Given the description of an element on the screen output the (x, y) to click on. 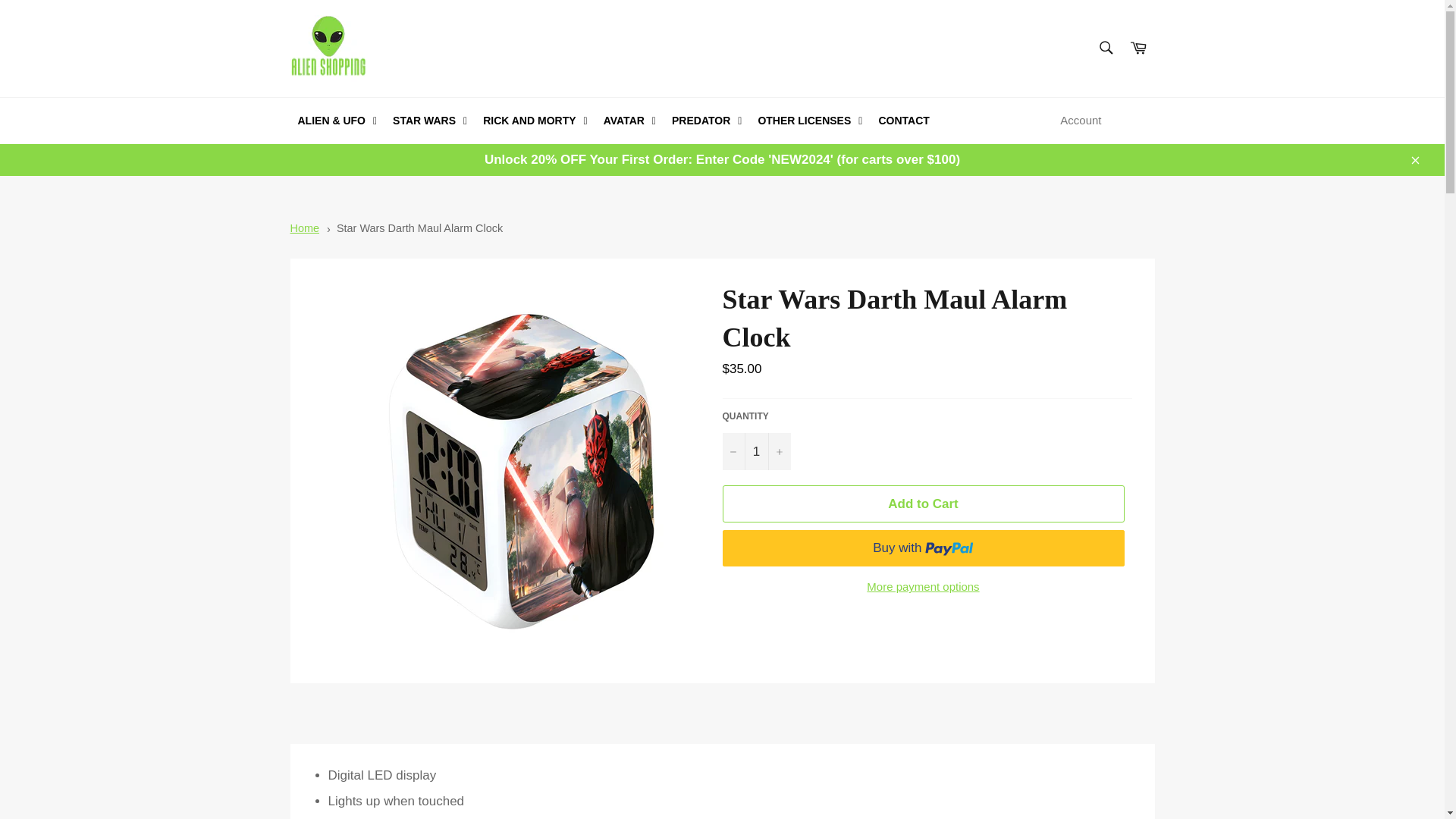
1 (756, 451)
